Given the description of an element on the screen output the (x, y) to click on. 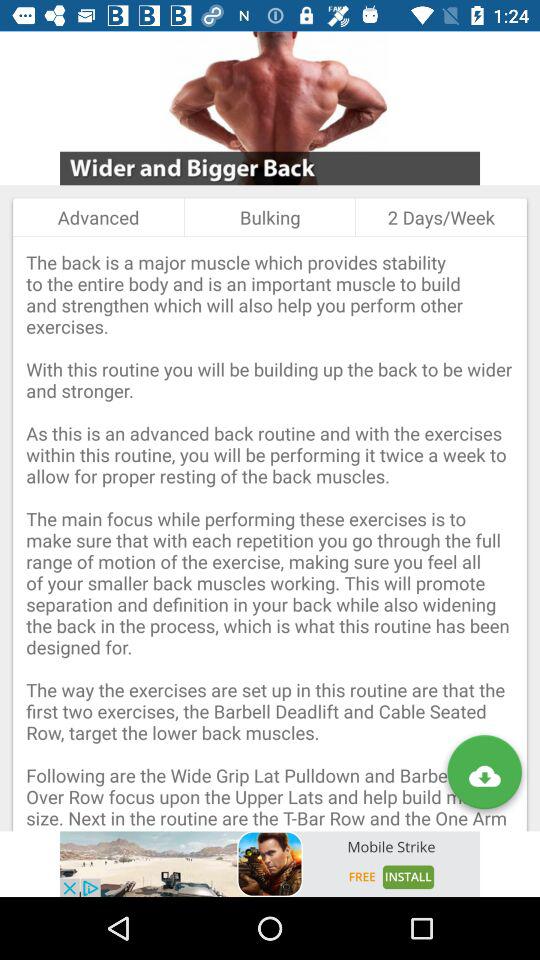
scroll until the advanced (98, 217)
